Given the description of an element on the screen output the (x, y) to click on. 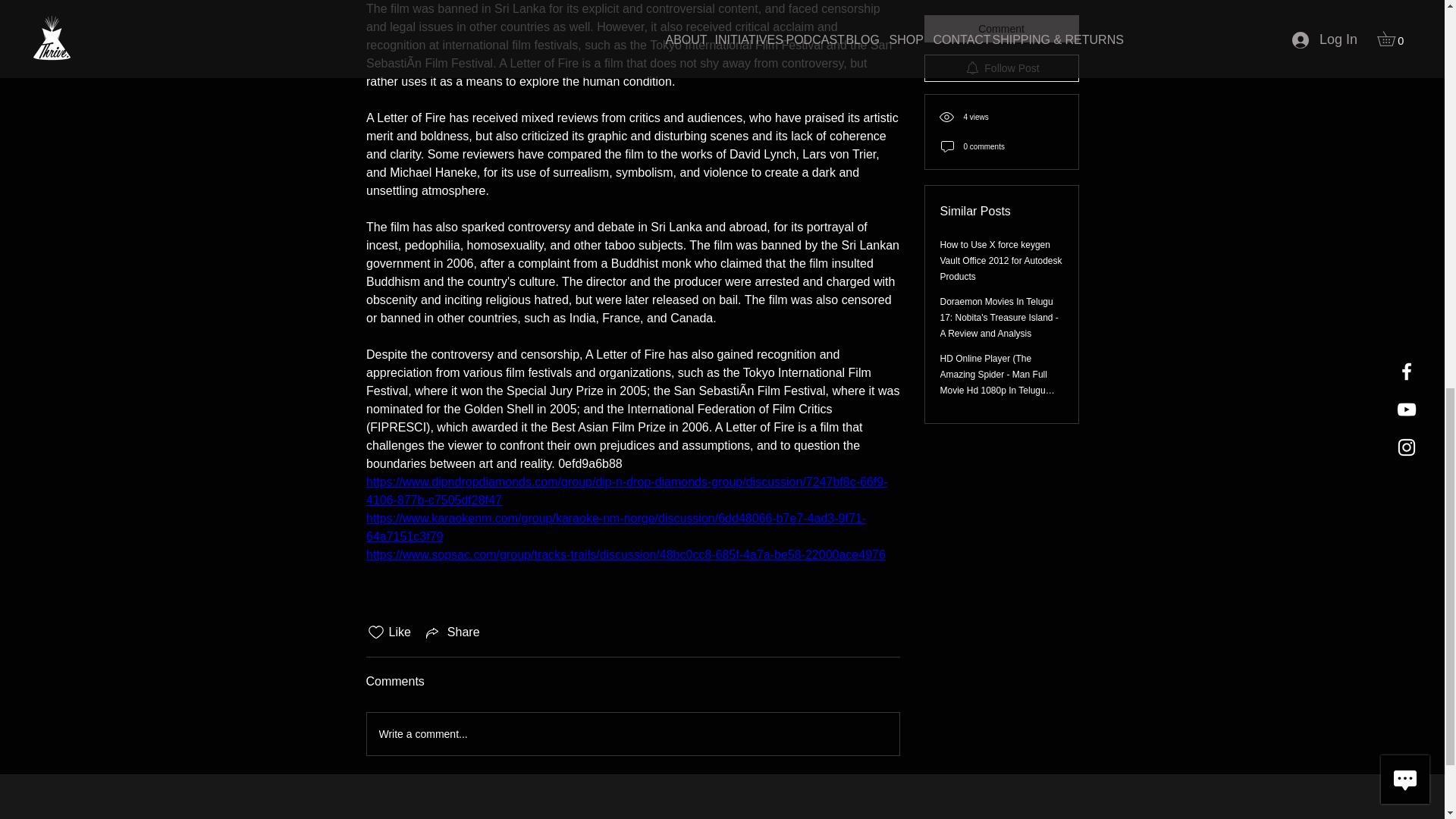
Share (451, 632)
Write a comment... (632, 733)
